Given the description of an element on the screen output the (x, y) to click on. 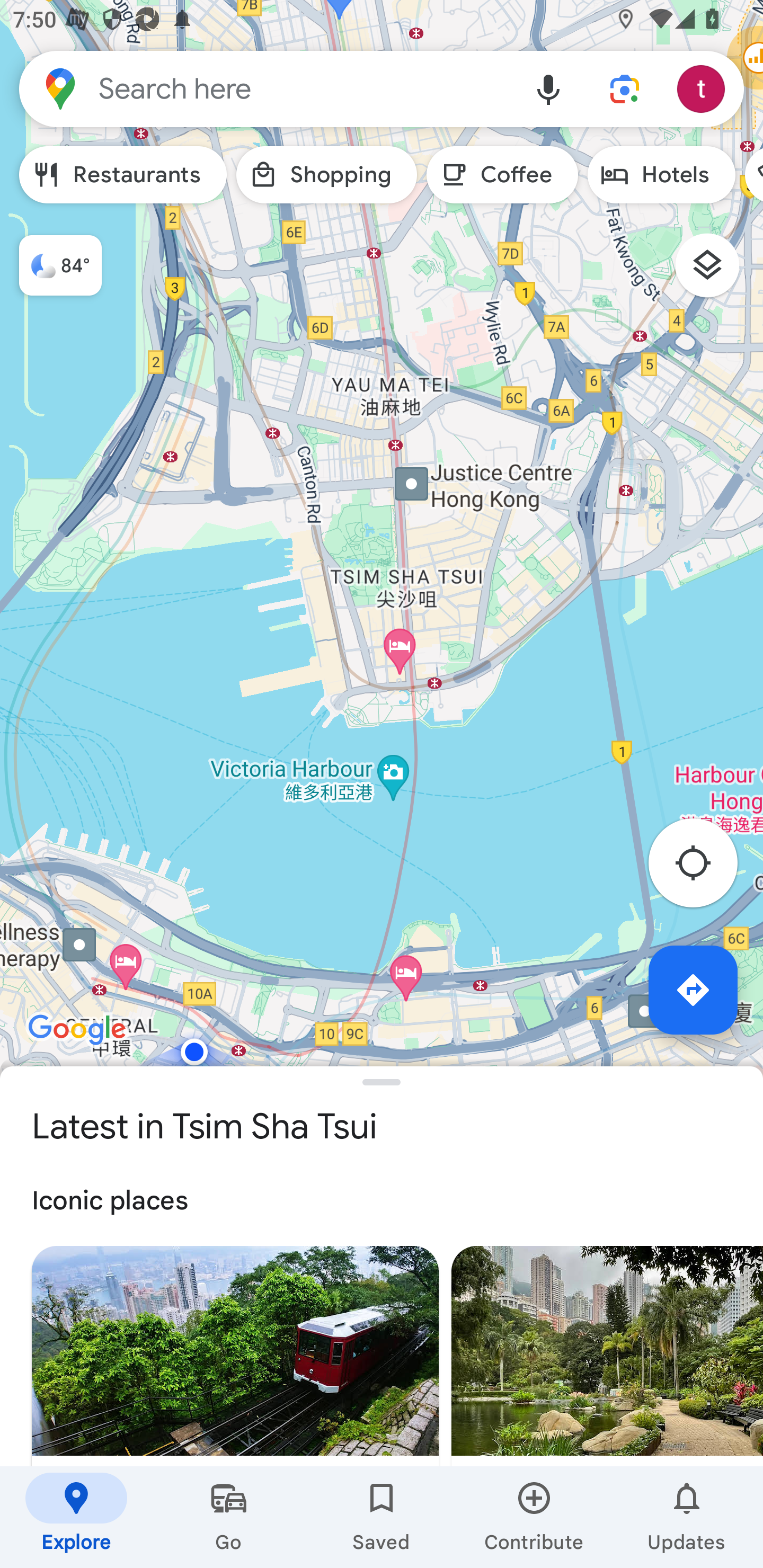
Search here (264, 88)
Voice search (548, 88)
Lens in Maps (624, 88)
Restaurants Search for Restaurants (122, 174)
Shopping Search for Shopping (326, 174)
Coffee Search for Coffee (502, 174)
Hotels Search for Hotels (661, 174)
Clear with periodic clouds, 84° 84° (50, 257)
Layers (716, 271)
Re-center map to your location (702, 868)
Directions (692, 989)
Iconic places (381, 1200)
Go (228, 1517)
Saved (381, 1517)
Contribute (533, 1517)
Updates (686, 1517)
